Given the description of an element on the screen output the (x, y) to click on. 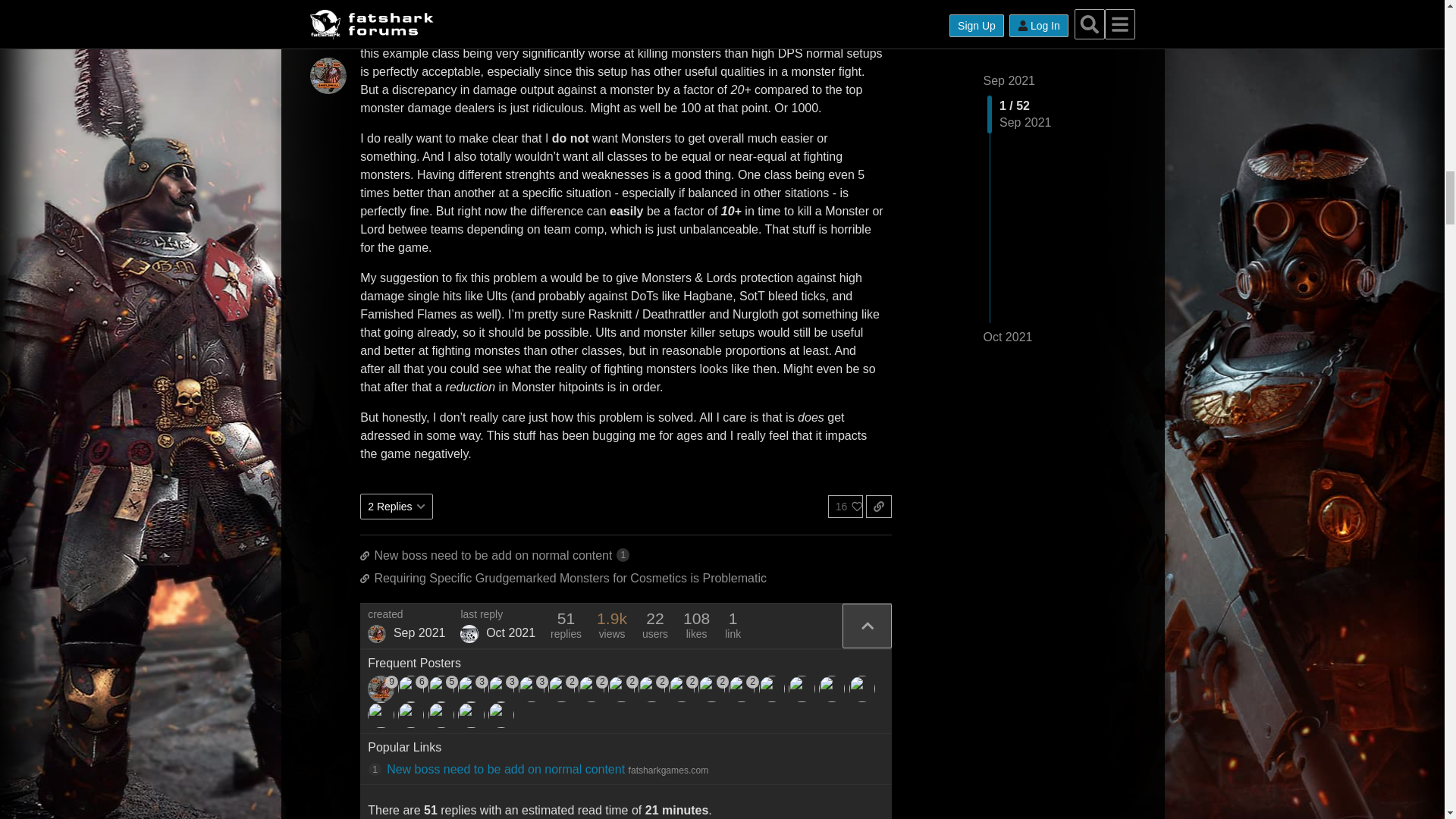
16 people liked this post (845, 506)
16 (845, 506)
3 (502, 688)
3 (533, 688)
last reply (497, 614)
2 (563, 688)
Sep 14, 2021 7:21 am (419, 632)
copy a link to this post to clipboard (878, 506)
2 (623, 688)
3 (472, 688)
9 (382, 688)
2 Replies (395, 506)
2 (743, 688)
2 (683, 688)
6 (412, 688)
